Given the description of an element on the screen output the (x, y) to click on. 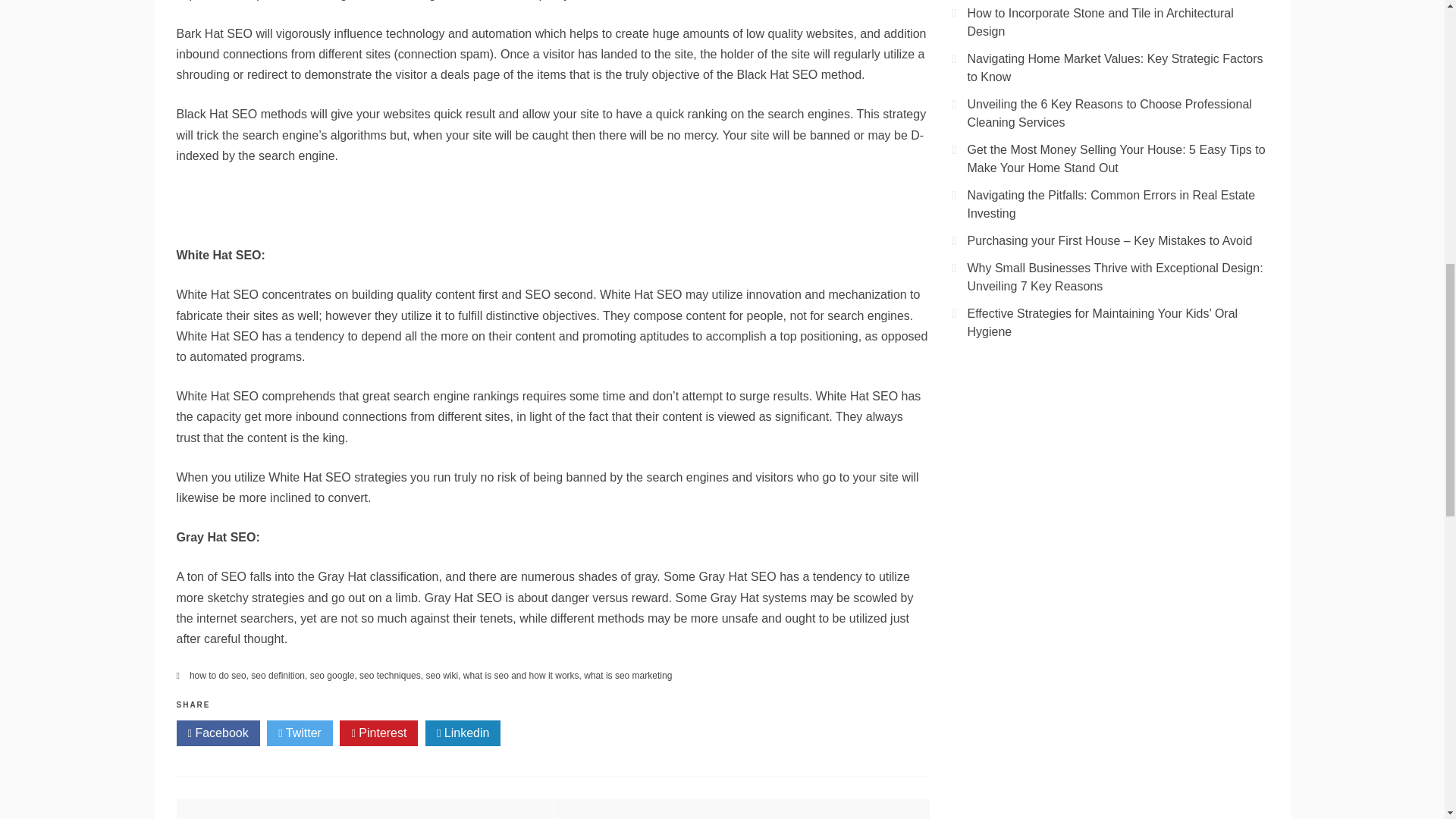
seo definition (277, 675)
what is seo and how it works (521, 675)
Twitter (299, 733)
Facebook (217, 733)
what is seo marketing (627, 675)
seo wiki (441, 675)
Pinterest (378, 733)
seo techniques (389, 675)
how to do seo (217, 675)
seo google (332, 675)
